Given the description of an element on the screen output the (x, y) to click on. 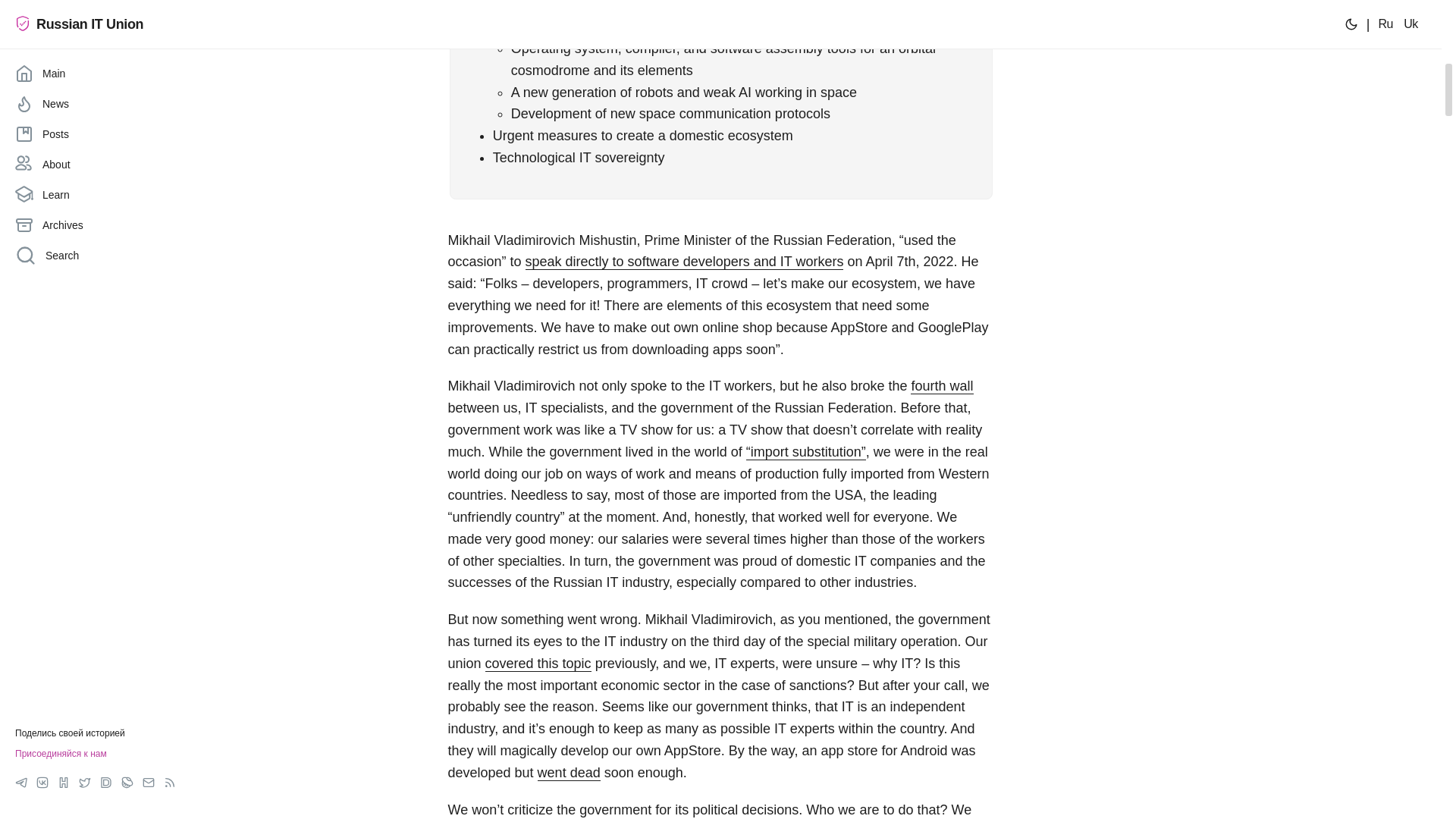
Urgent measures to create a domestic ecosystem (643, 135)
A new generation of robots and weak AI working in space (684, 92)
Development of new space communication protocols (670, 113)
Technological IT sovereignty (579, 157)
speak directly to software developers and IT workers (684, 261)
